Given the description of an element on the screen output the (x, y) to click on. 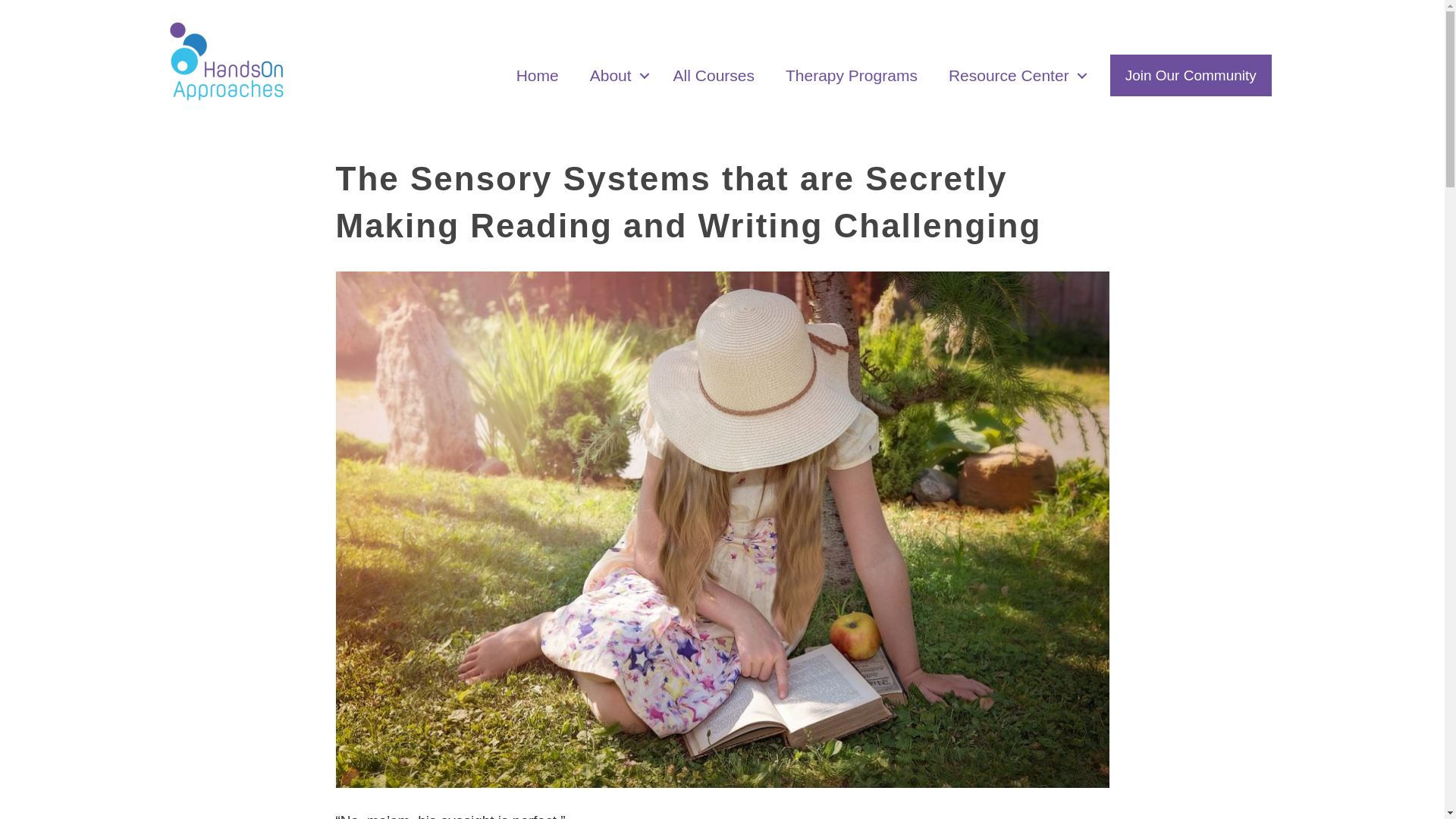
Resource Center (1013, 75)
Therapy Programs (851, 75)
Home (536, 75)
Join Our Community (1190, 75)
All Courses (714, 75)
About (616, 75)
